Given the description of an element on the screen output the (x, y) to click on. 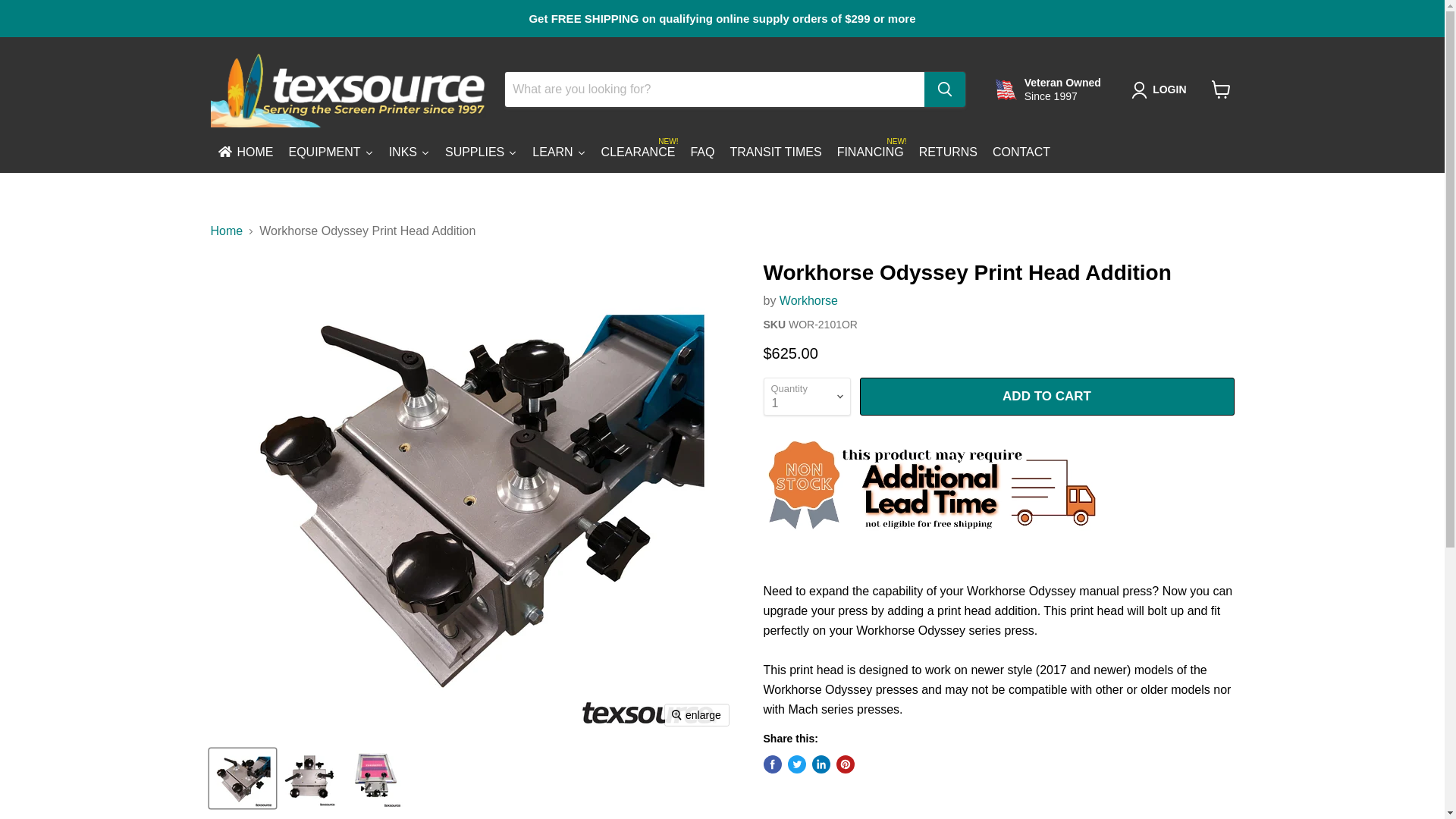
SUPPLIES (481, 153)
LOGIN (1169, 89)
View cart (1221, 89)
Inks (409, 153)
EQUIPMENT (870, 153)
Contact (330, 153)
HOME (1021, 153)
Equipment (246, 153)
Home (330, 153)
